Given the description of an element on the screen output the (x, y) to click on. 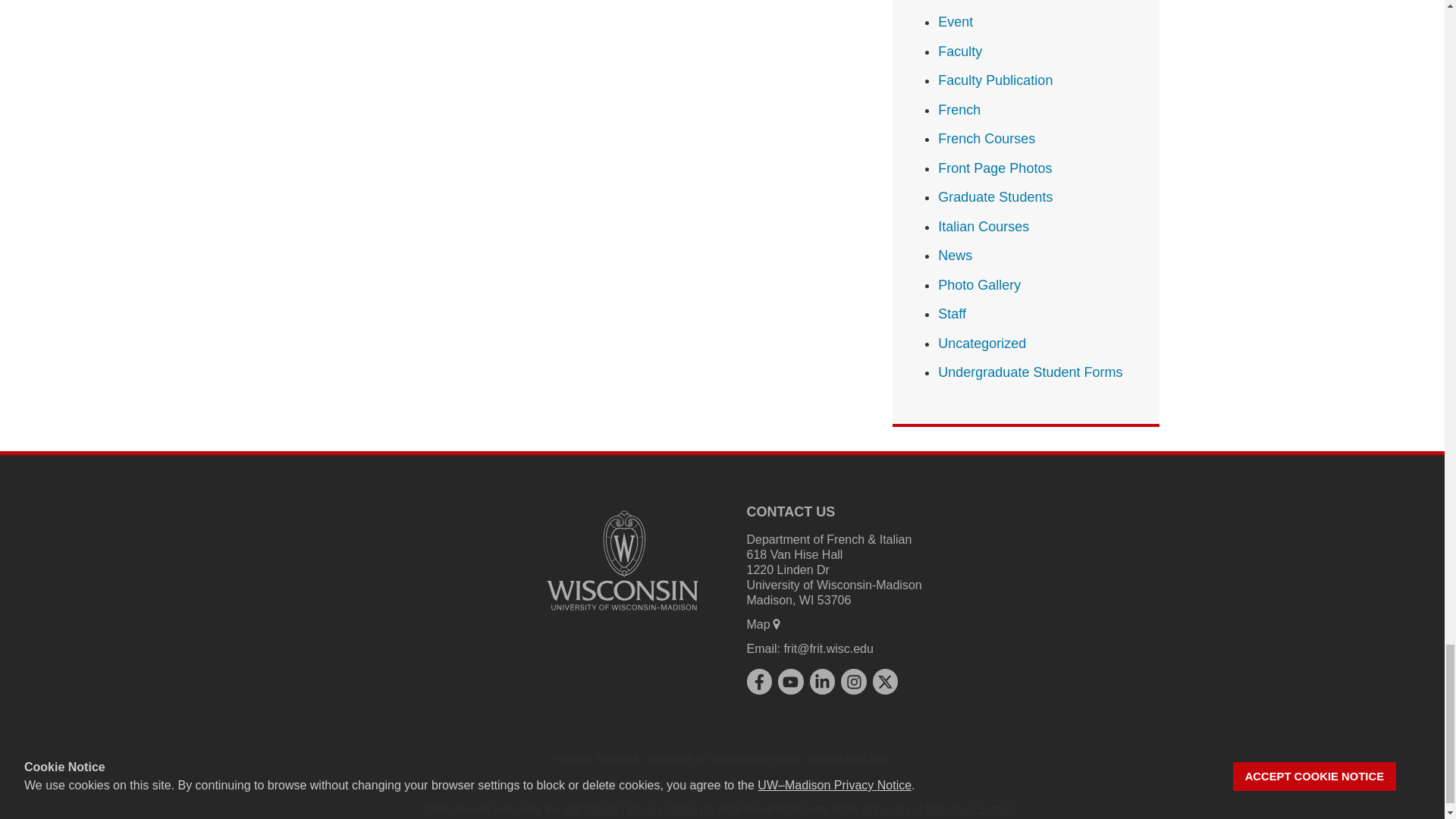
instagram (853, 681)
facebook (759, 681)
youtube (790, 681)
x twitter (884, 681)
University logo that links to main university website (621, 560)
linkedin (821, 681)
map marker (776, 623)
